Given the description of an element on the screen output the (x, y) to click on. 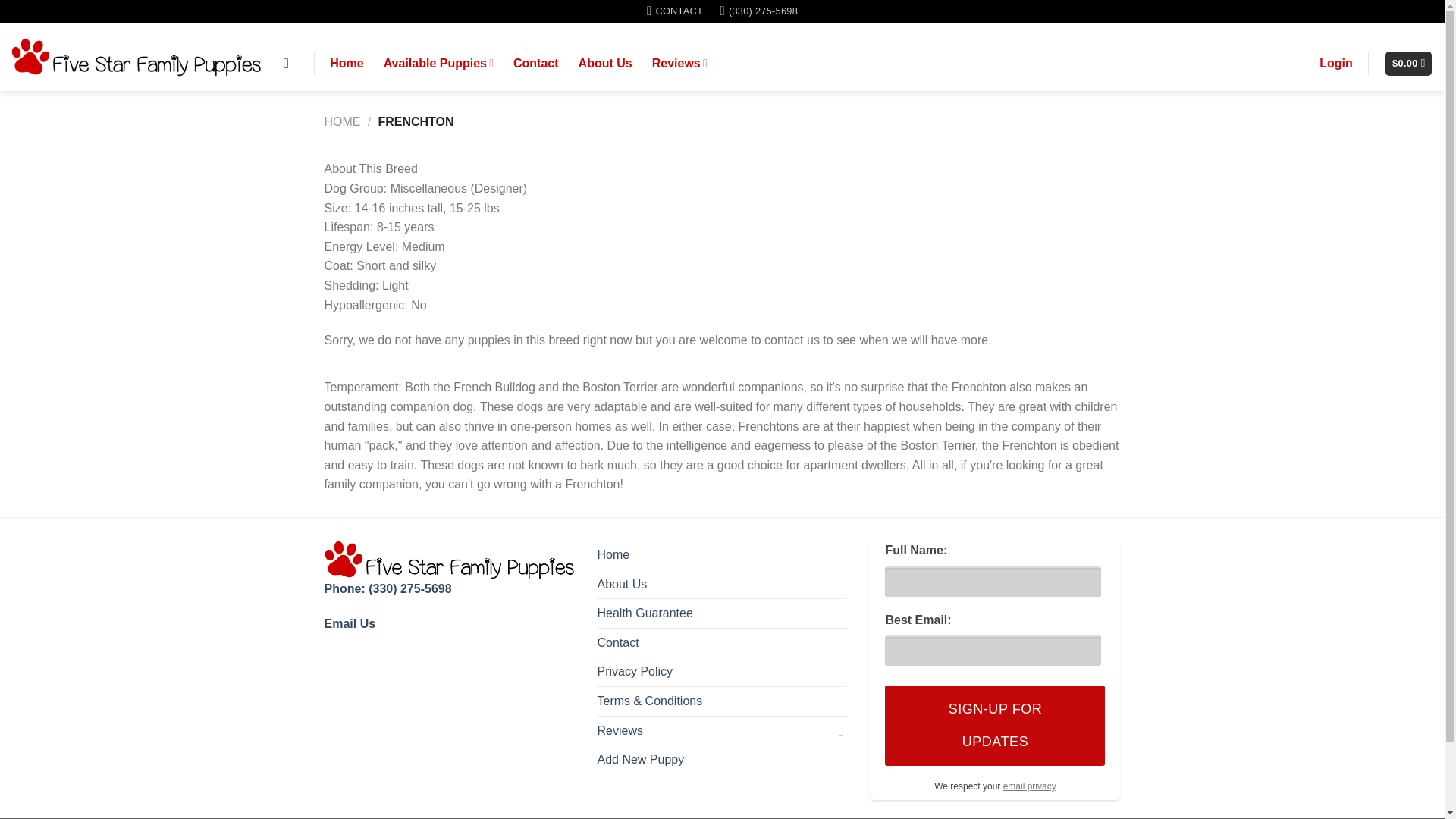
Five Star Family Puppies - Puppies for Sale in Ohio (135, 57)
Home (346, 63)
CONTACT (674, 11)
HOME (342, 121)
Sign-Up For Updates (995, 725)
Login (1335, 63)
Privacy Policy (634, 671)
Home (612, 554)
Privacy Policy (1030, 786)
About Us (621, 584)
email privacy (1030, 786)
Basket (1408, 63)
Available Puppies (438, 62)
Logo (449, 559)
Reviews (713, 730)
